Given the description of an element on the screen output the (x, y) to click on. 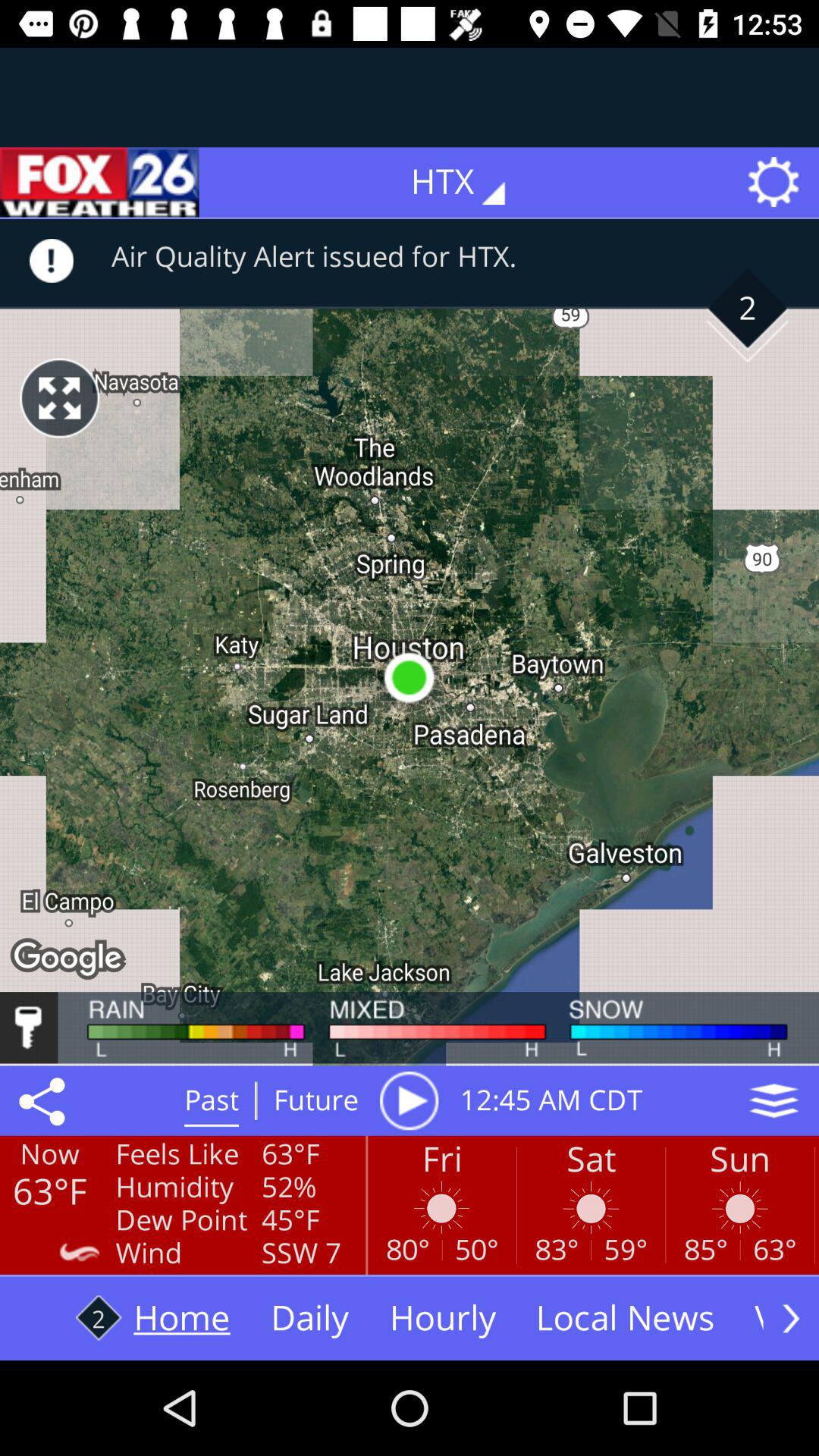
turn on the icon to the left of 12 45 am item (409, 1100)
